Given the description of an element on the screen output the (x, y) to click on. 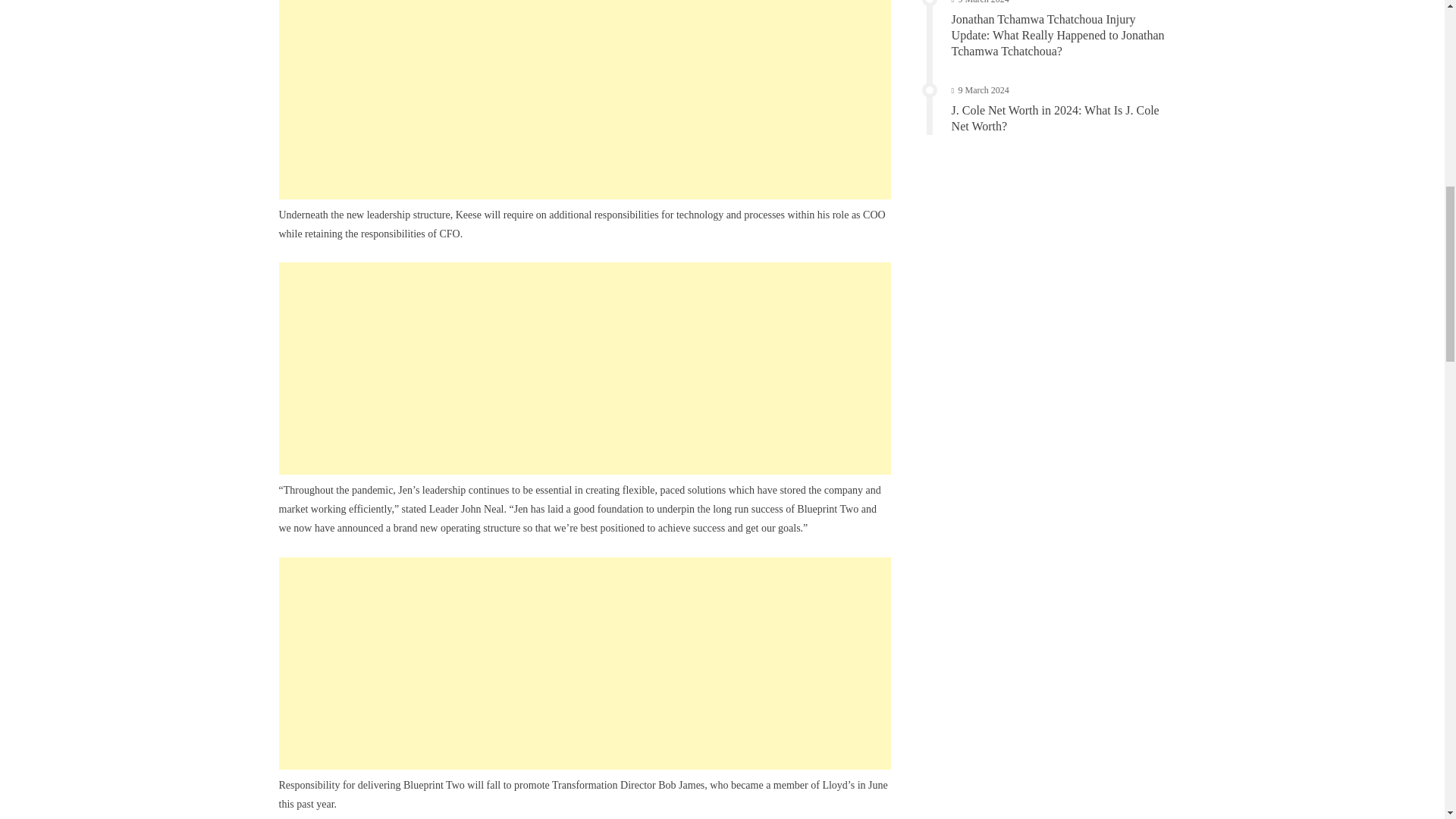
Advertisement (585, 99)
Advertisement (585, 368)
Advertisement (585, 663)
